Given the description of an element on the screen output the (x, y) to click on. 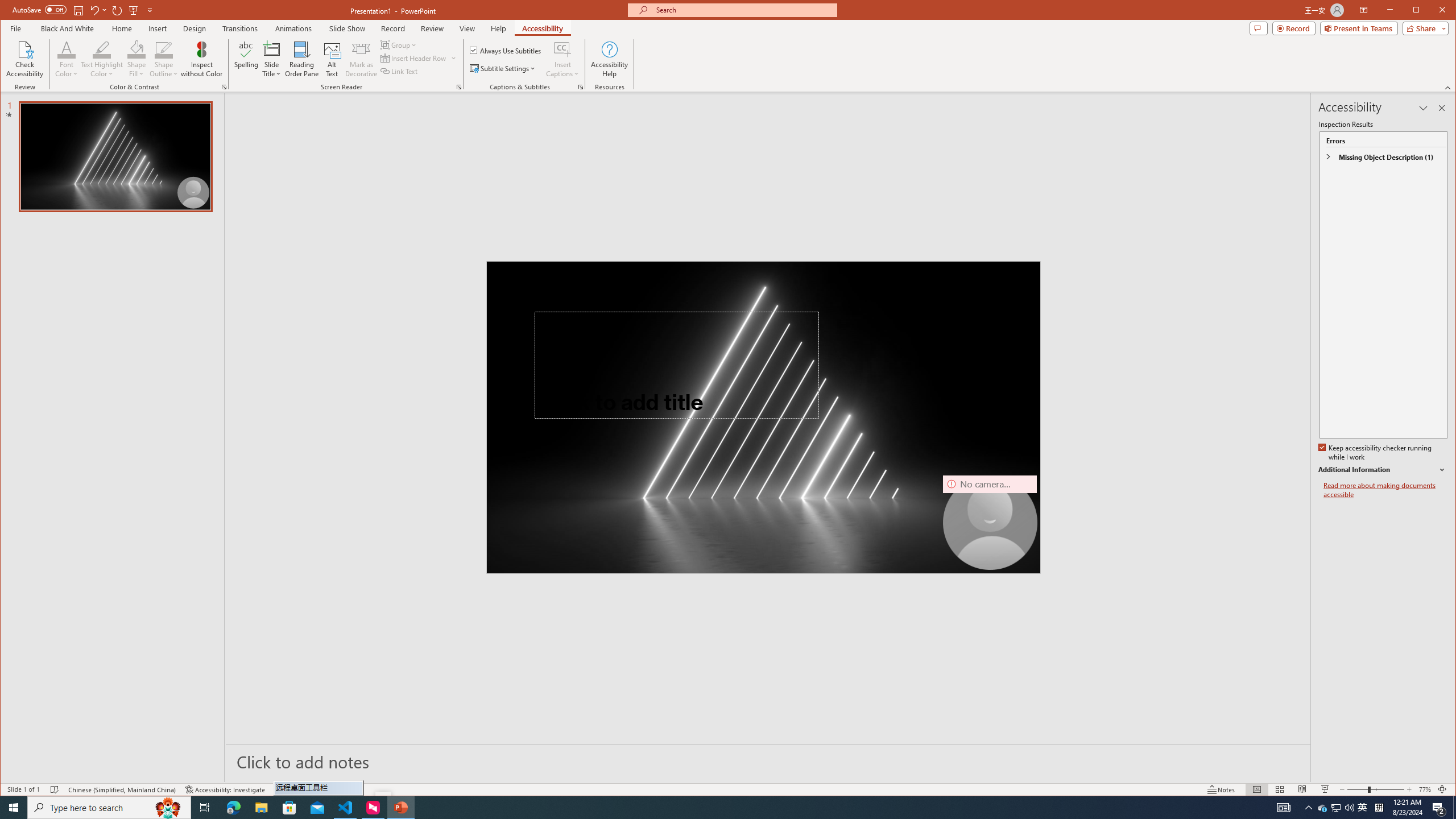
Inspect without Color (201, 59)
Link Text (399, 70)
Color & Contrast (223, 86)
